Given the description of an element on the screen output the (x, y) to click on. 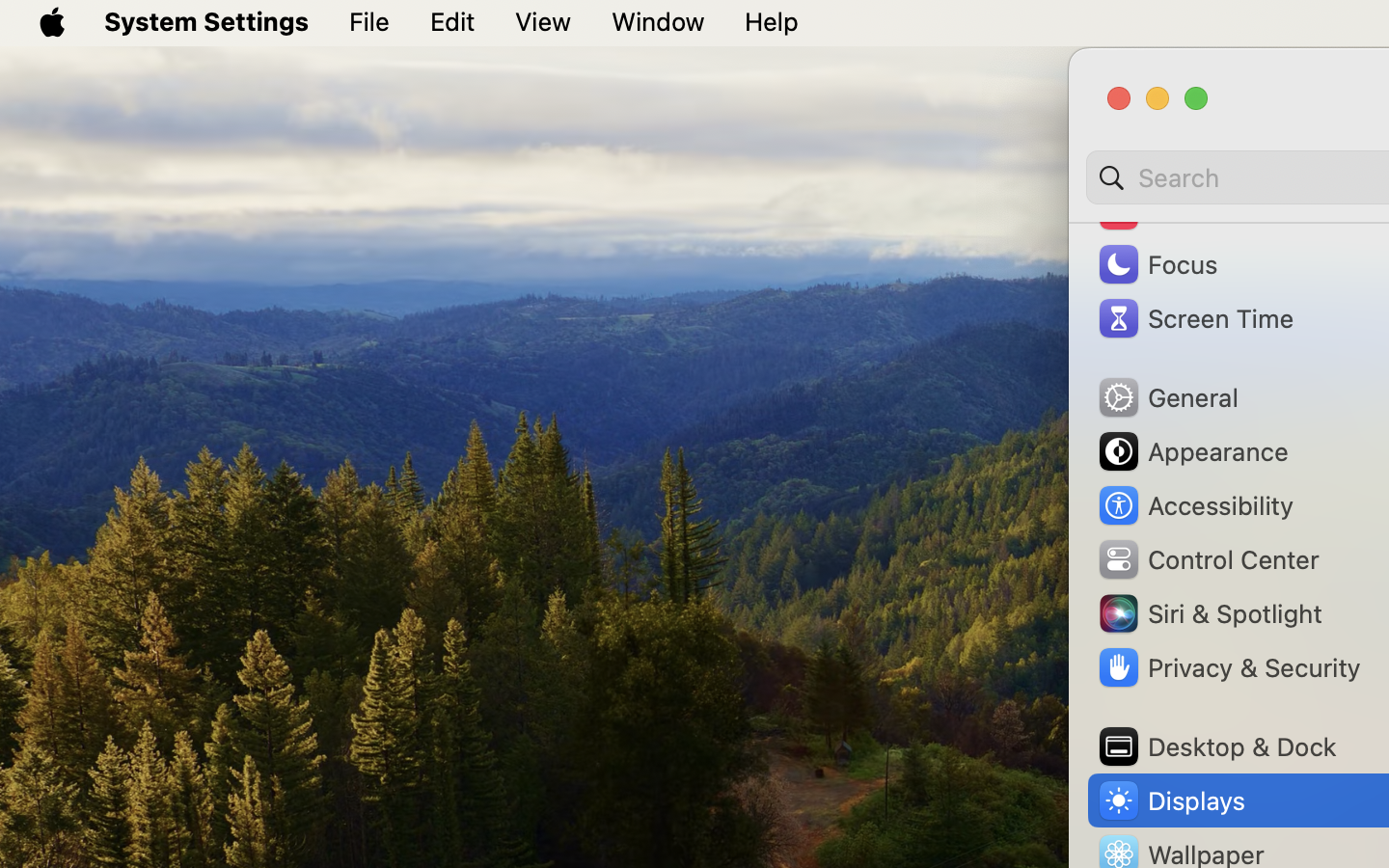
Displays Element type: AXStaticText (1170, 800)
Privacy & Security Element type: AXStaticText (1227, 667)
Appearance Element type: AXStaticText (1191, 451)
Control Center Element type: AXStaticText (1207, 559)
Siri & Spotlight Element type: AXStaticText (1208, 613)
